Given the description of an element on the screen output the (x, y) to click on. 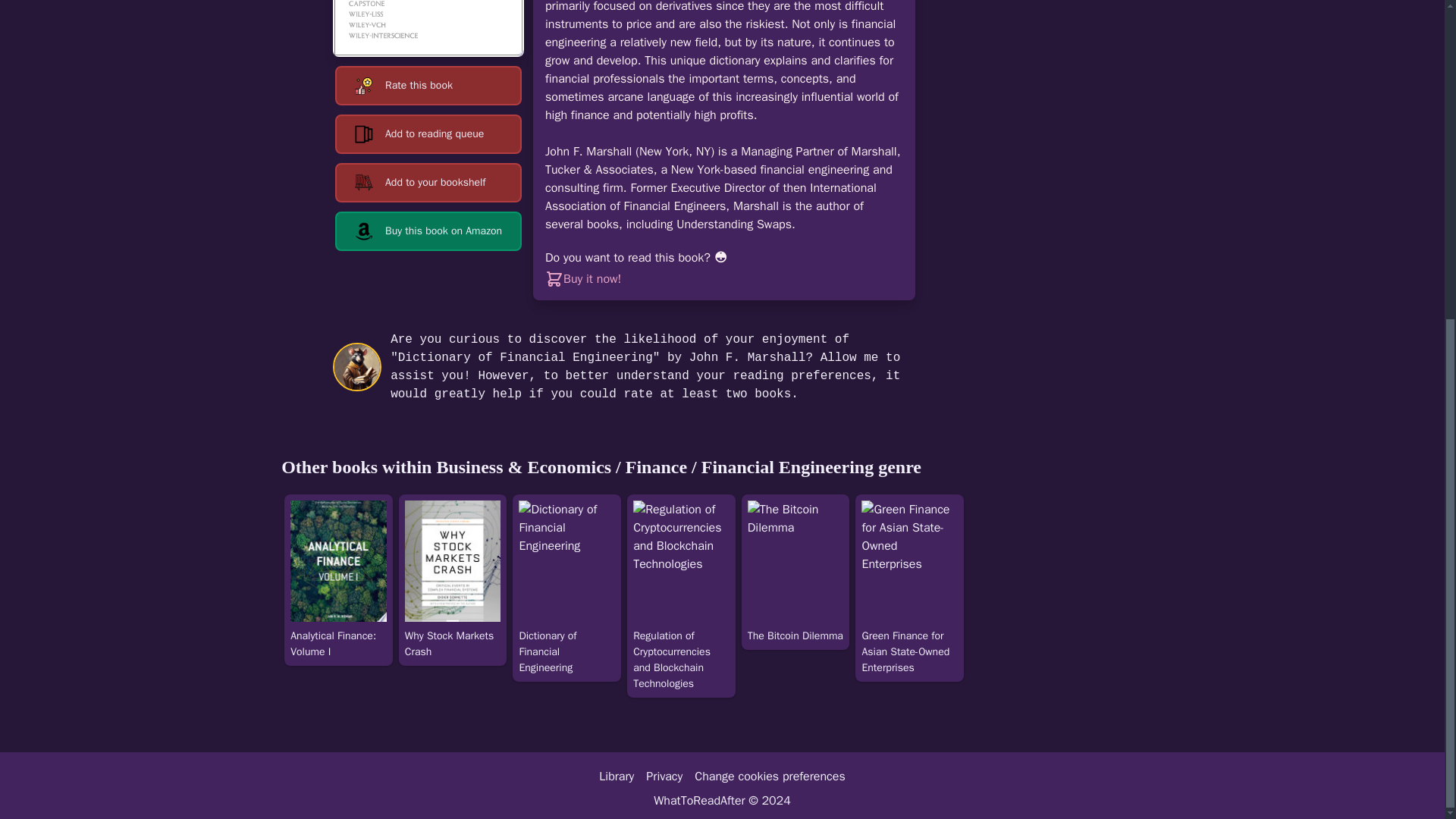
Rate this book (427, 85)
Add to reading queue (427, 133)
Add this book to your bookshelf (427, 182)
Buy this book on Amazon (427, 230)
Dictionary of Financial Engineering (428, 28)
Buy Dictionary of Financial Engineering on Amazon (427, 230)
Change cookies preferences (769, 776)
Add to your bookshelf (427, 182)
Privacy (664, 776)
Add this book to reading queue (427, 133)
